Given the description of an element on the screen output the (x, y) to click on. 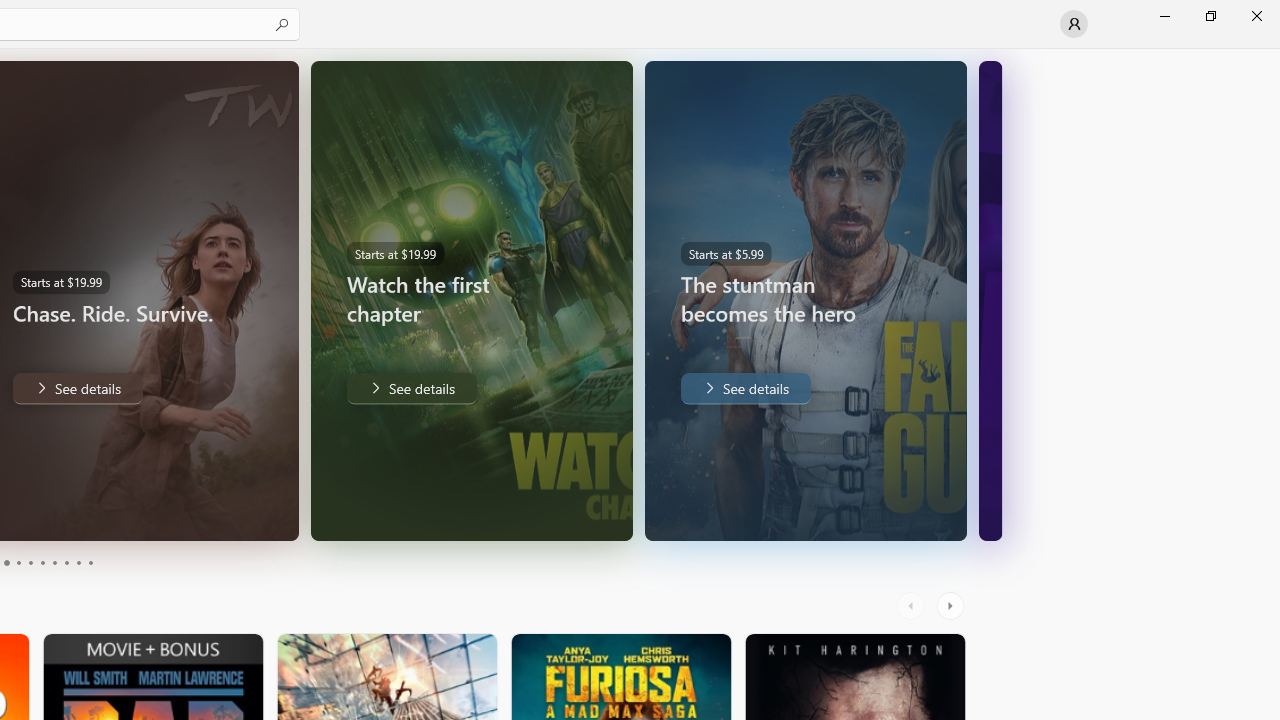
Page 9 (77, 562)
Restore Microsoft Store (1210, 15)
Page 10 (90, 562)
